Given the description of an element on the screen output the (x, y) to click on. 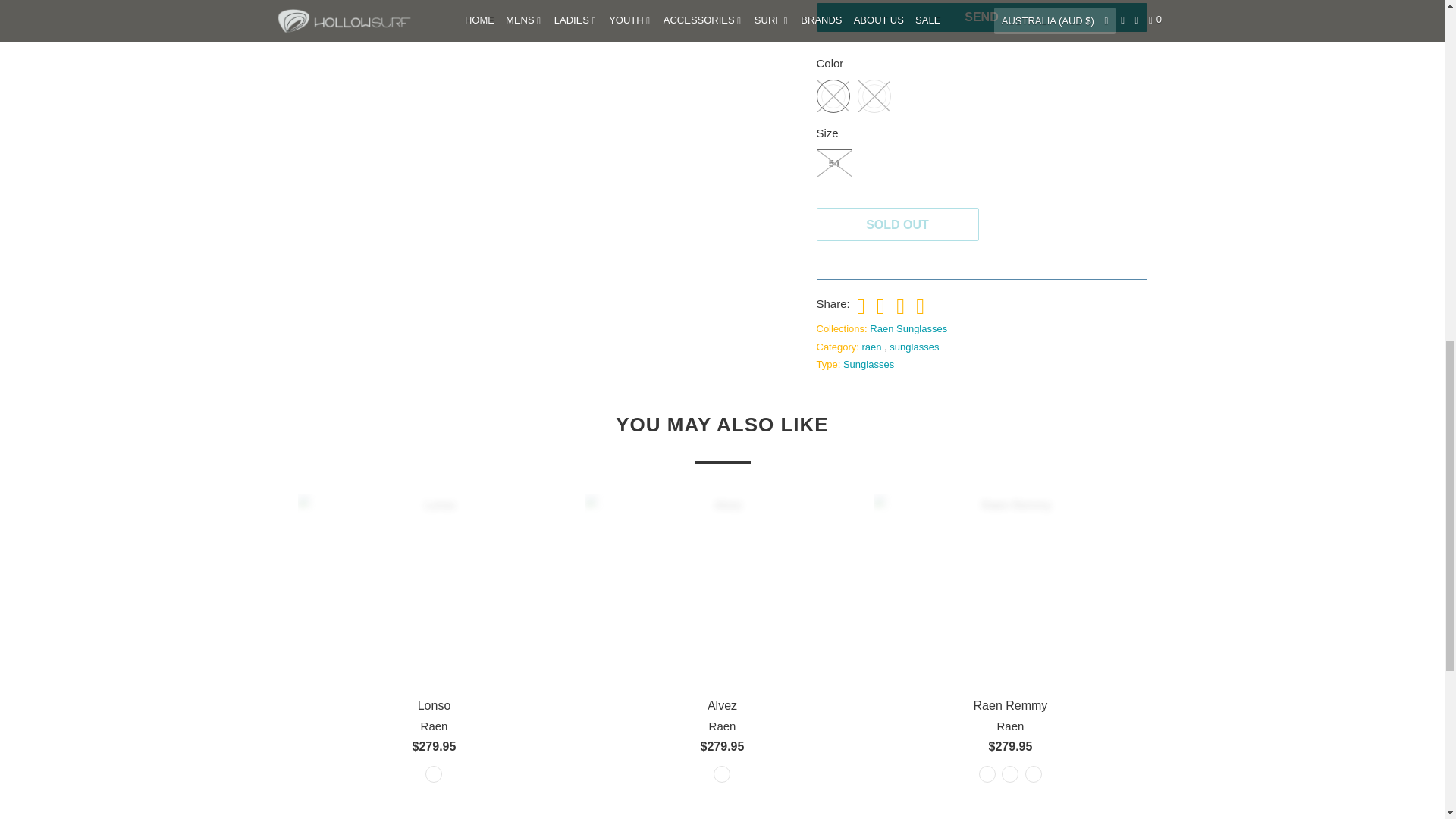
Products tagged raen (872, 346)
Send (981, 17)
Raen Sunglasses (908, 328)
Products tagged sunglasses (914, 346)
Sunglasses (868, 364)
